Given the description of an element on the screen output the (x, y) to click on. 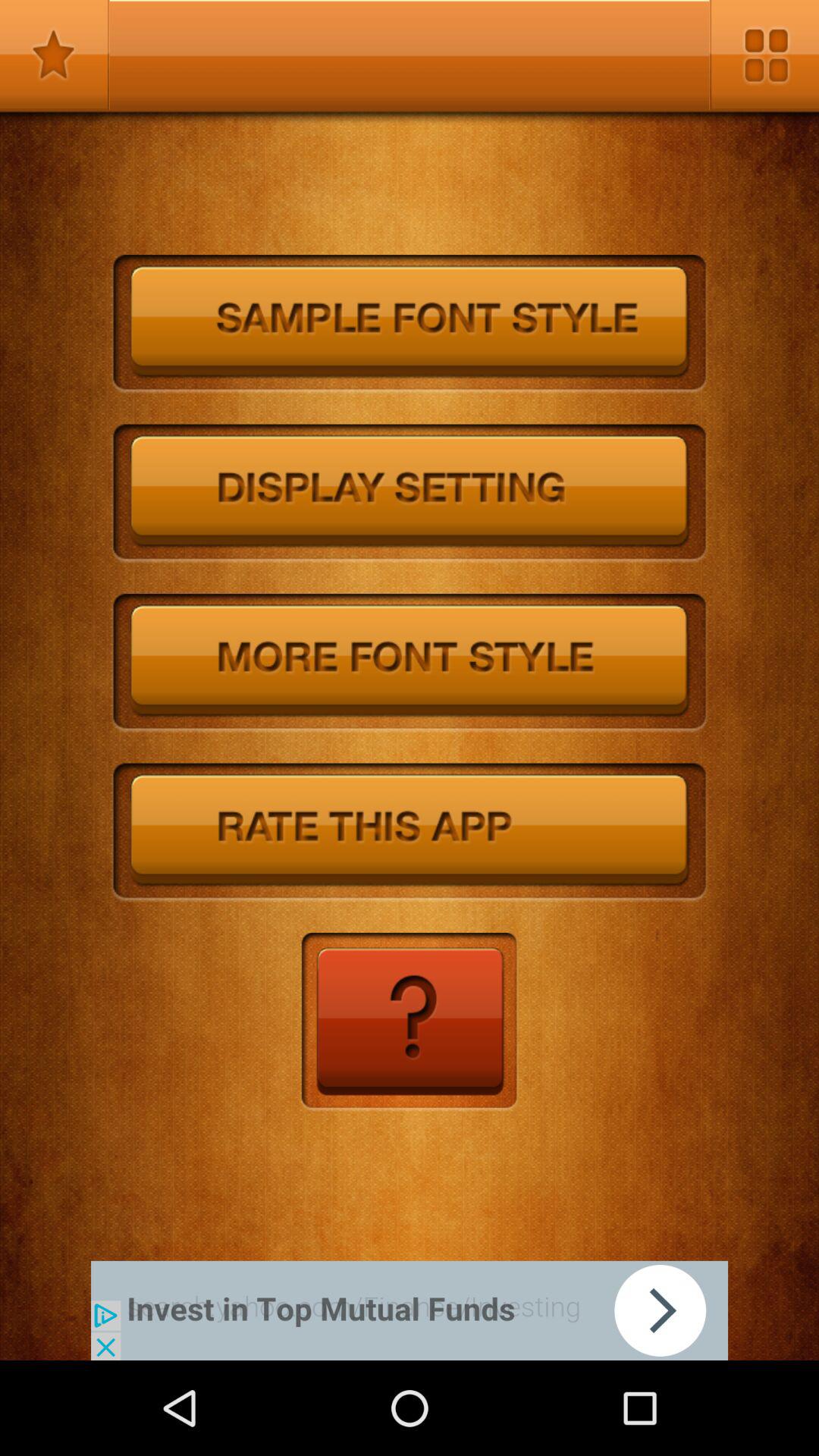
open advertisement (409, 1310)
